Given the description of an element on the screen output the (x, y) to click on. 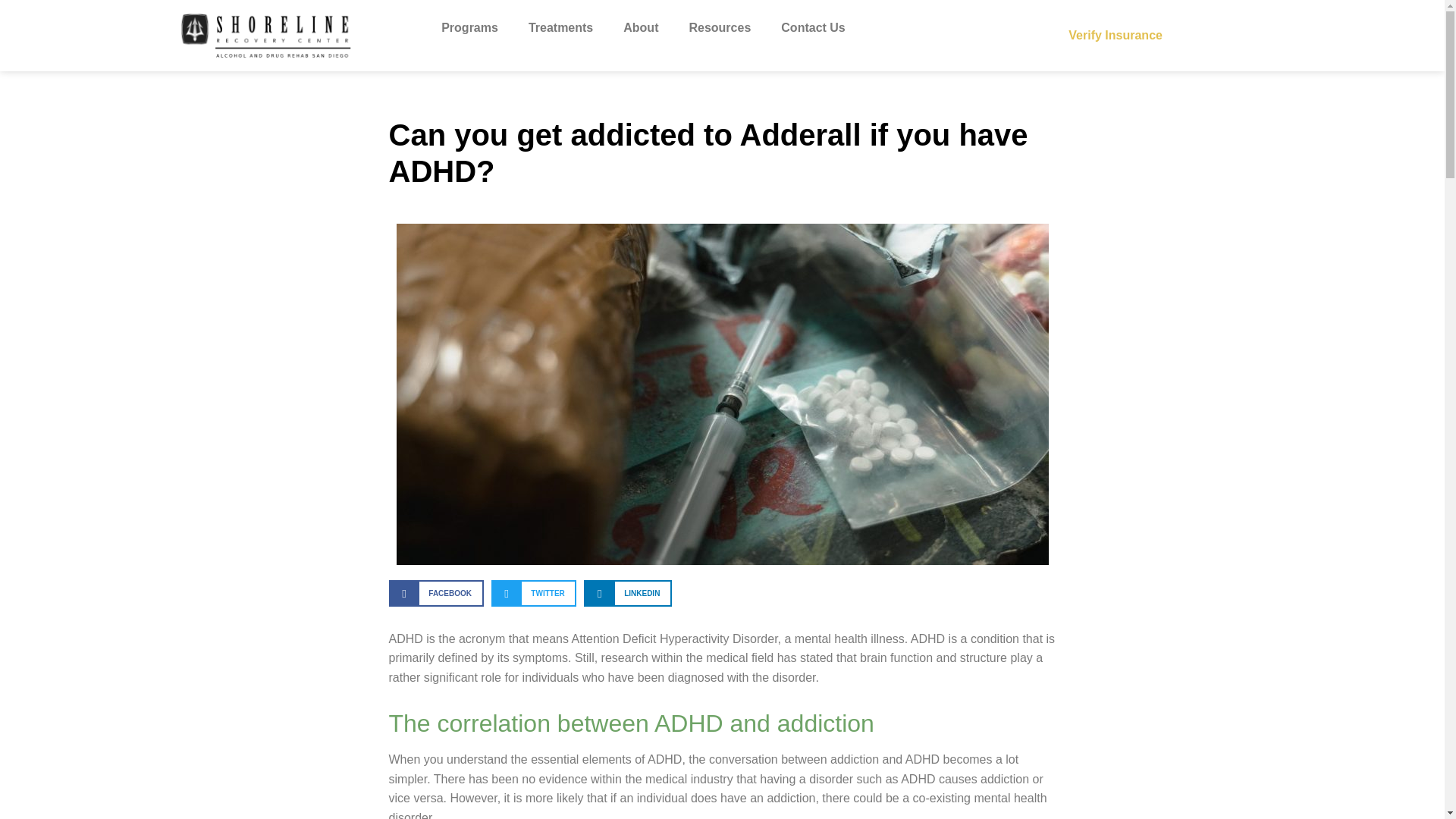
Contact Us (812, 27)
Programs (469, 27)
Resources (718, 27)
About (640, 27)
Treatments (560, 27)
